Given the description of an element on the screen output the (x, y) to click on. 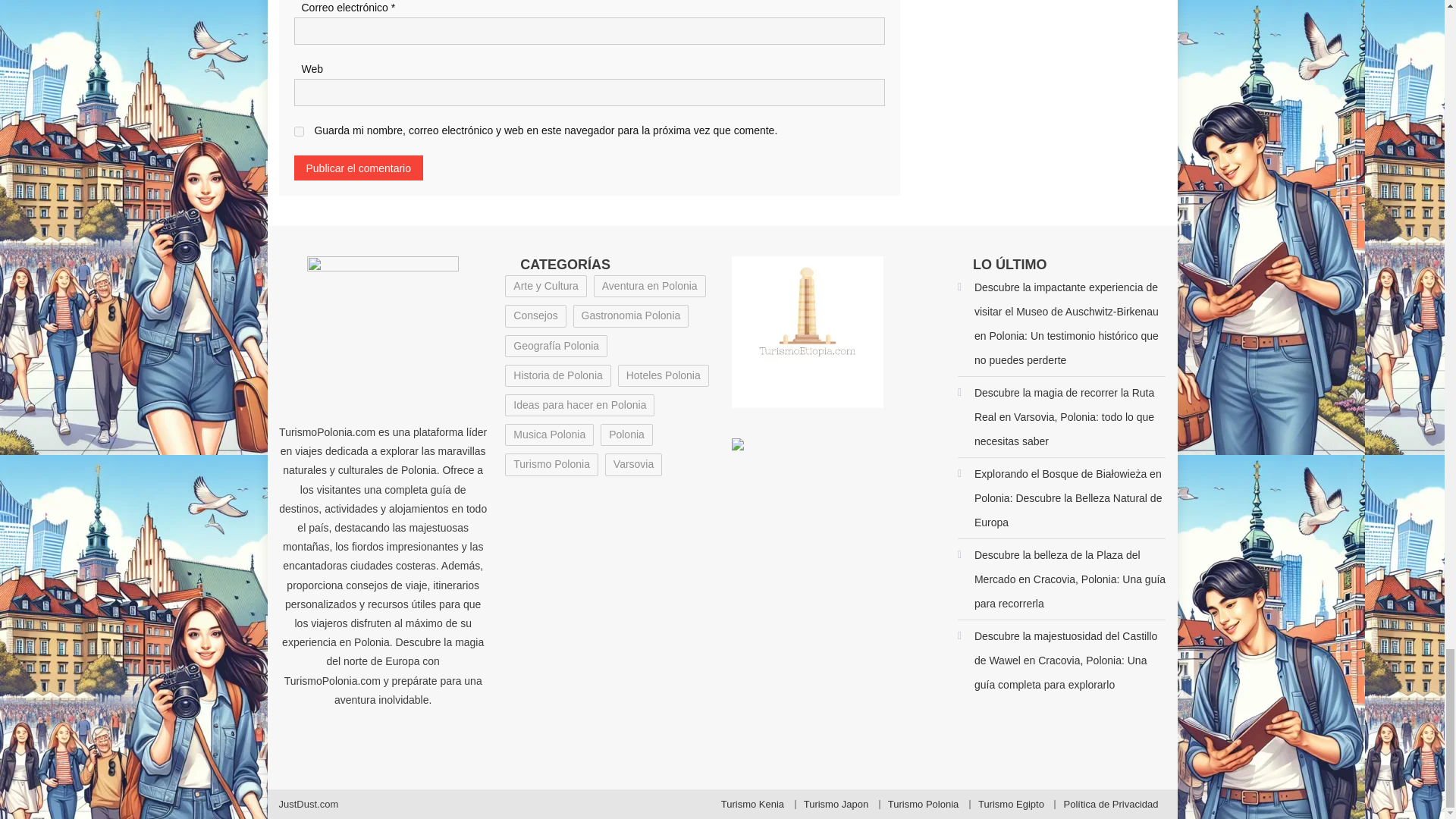
yes (299, 131)
Publicar el comentario (358, 167)
